Given the description of an element on the screen output the (x, y) to click on. 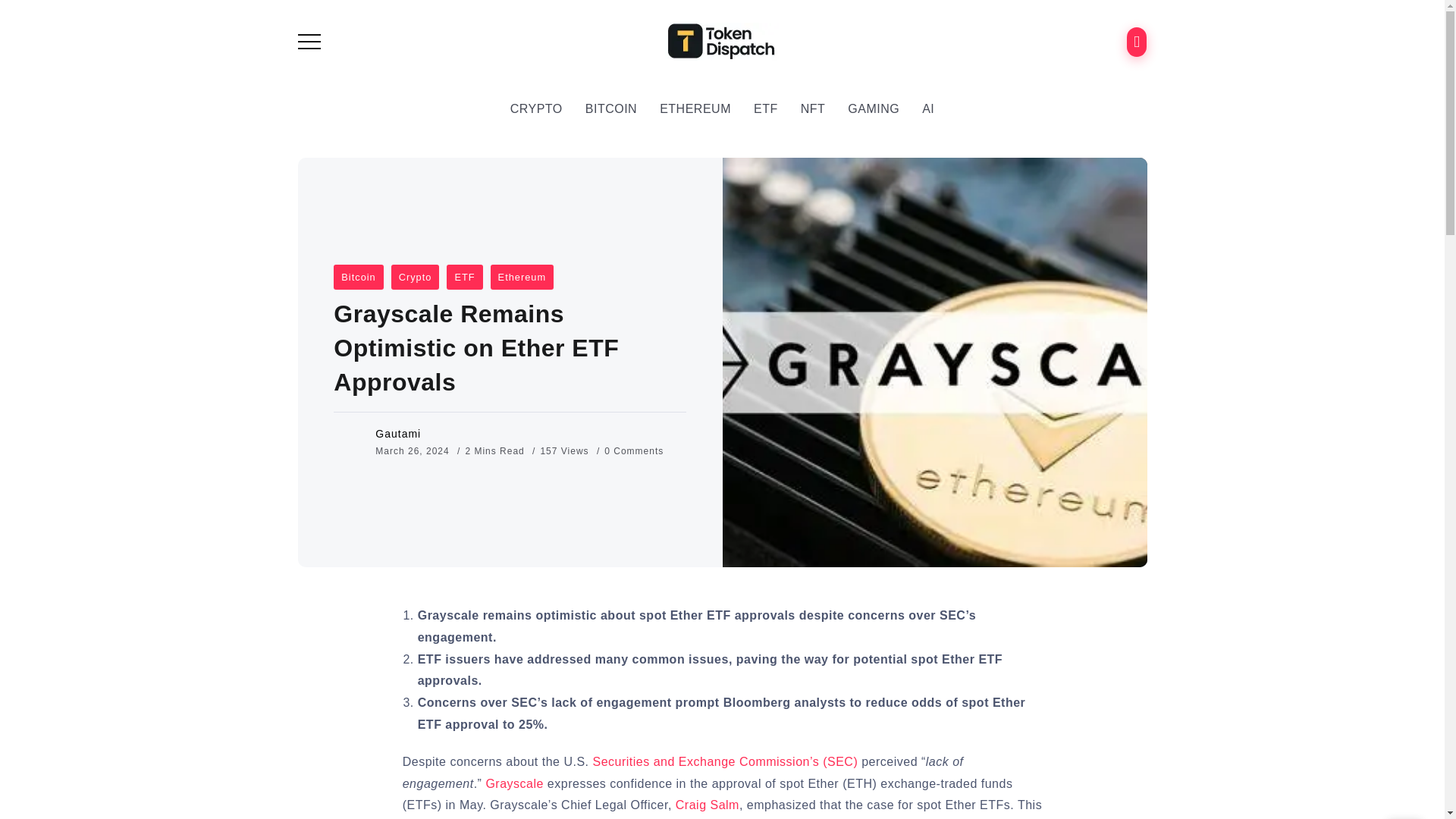
GAMING (873, 109)
ETHEREUM (694, 109)
Ethereum (521, 276)
Bitcoin (357, 276)
Craig Salm (707, 804)
Grayscale (513, 783)
ETF (766, 109)
Gautami (397, 433)
ETF (463, 276)
BITCOIN (611, 109)
Token Dispatch (721, 40)
0 Comments (633, 450)
Ethereum (521, 276)
NFT (812, 109)
Bitcoin (357, 276)
